Given the description of an element on the screen output the (x, y) to click on. 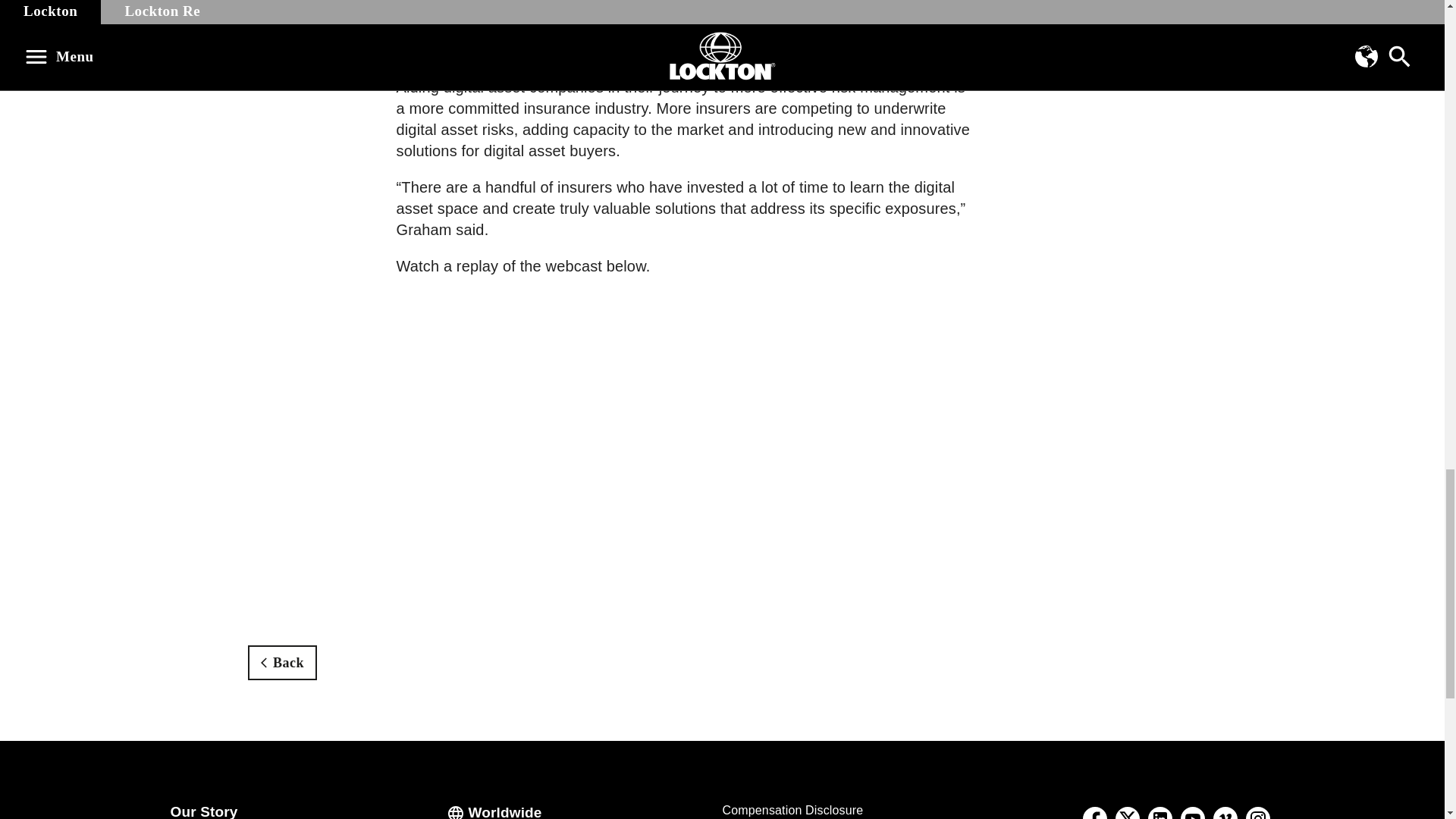
Follow Lockton on Facebook (1094, 812)
Follow Lockton on YouTube (1192, 810)
Back (282, 662)
Compensation Disclosure (792, 809)
Follow Lockton on LinkedIn (1159, 810)
Follow Lockton on Instagram (1258, 810)
Follow Lockton on Twitter (1128, 810)
Follow Lockton on Vimeo (1224, 810)
Follow Lockton on Facebook (1094, 810)
Follow Lockton on Vimeo (1224, 812)
